Given the description of an element on the screen output the (x, y) to click on. 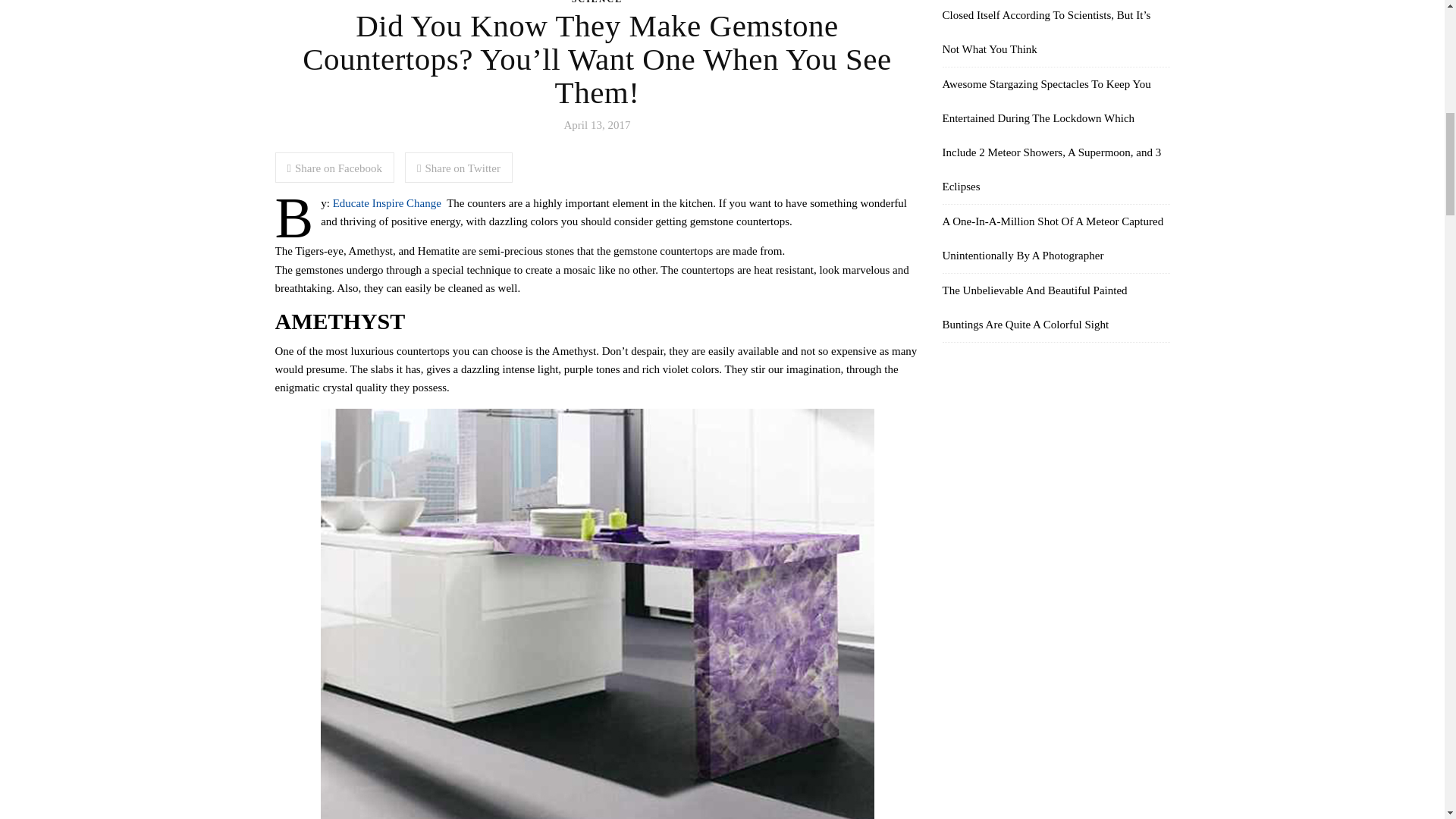
SCIENCE (597, 2)
Advertisement (1055, 471)
Share on Twitter (458, 167)
Educate Inspire Change (387, 203)
Share on Facebook (334, 167)
